Given the description of an element on the screen output the (x, y) to click on. 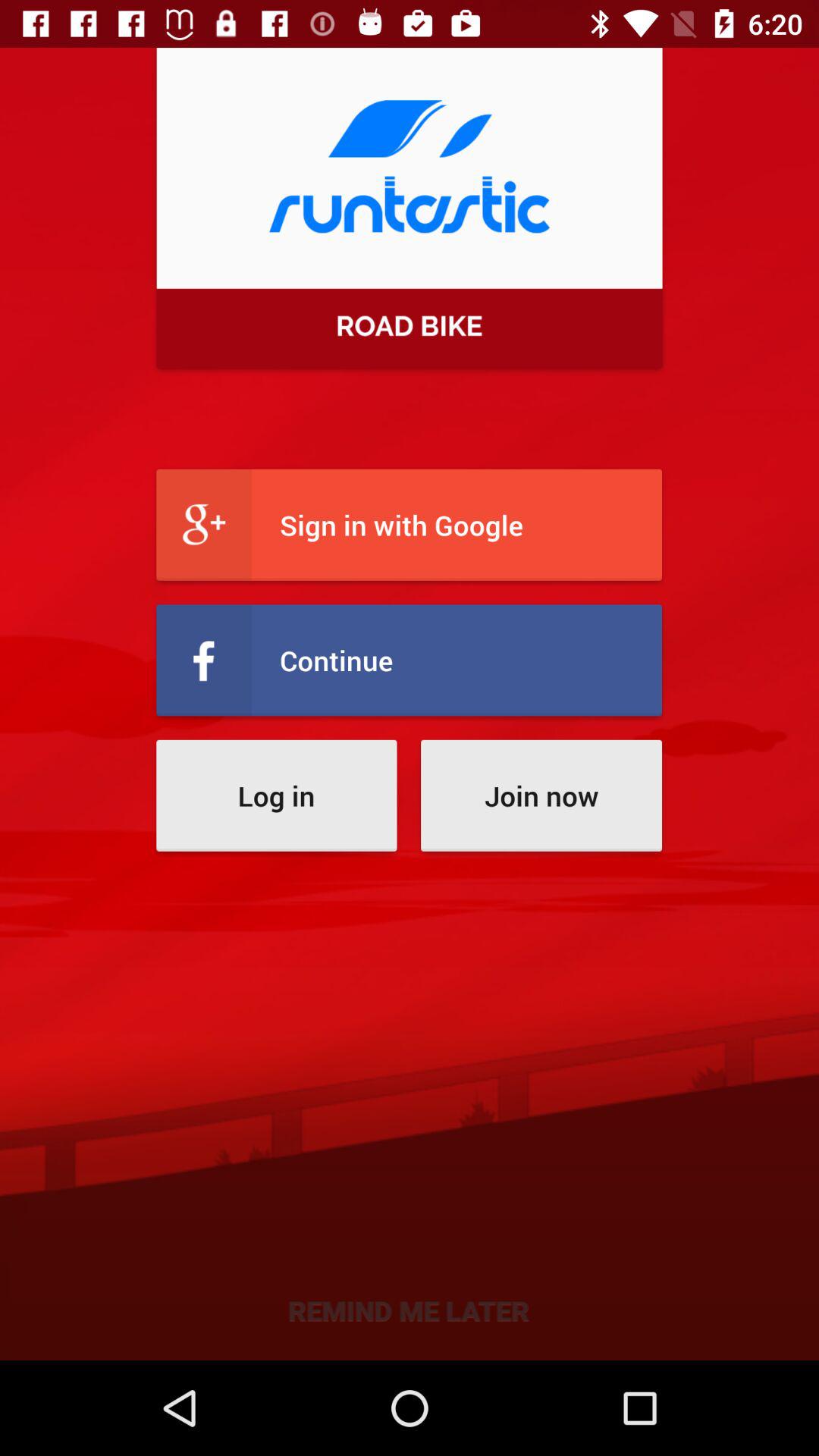
open the icon next to the log in icon (541, 795)
